Given the description of an element on the screen output the (x, y) to click on. 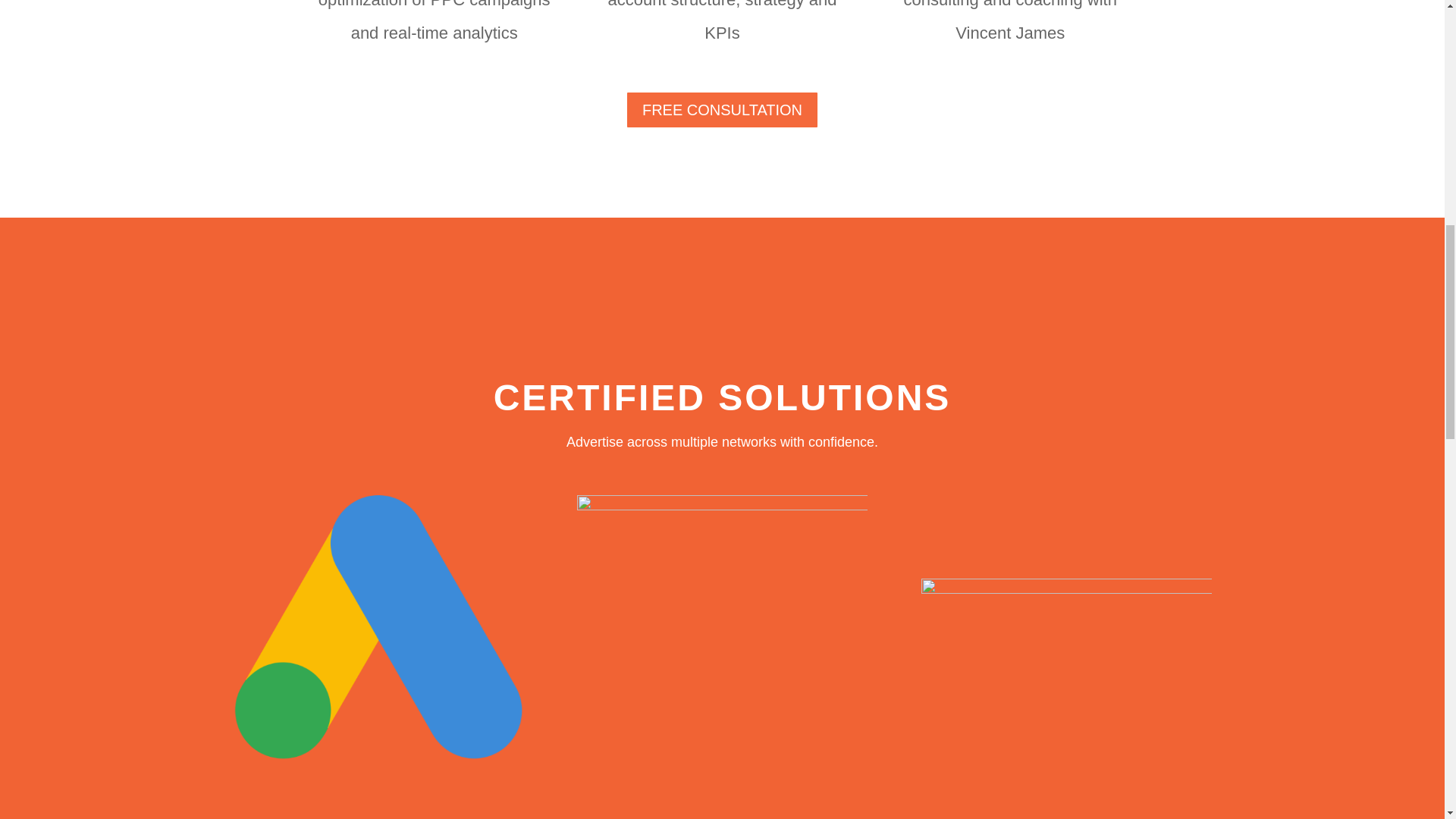
FREE CONSULTATION (722, 109)
